Given the description of an element on the screen output the (x, y) to click on. 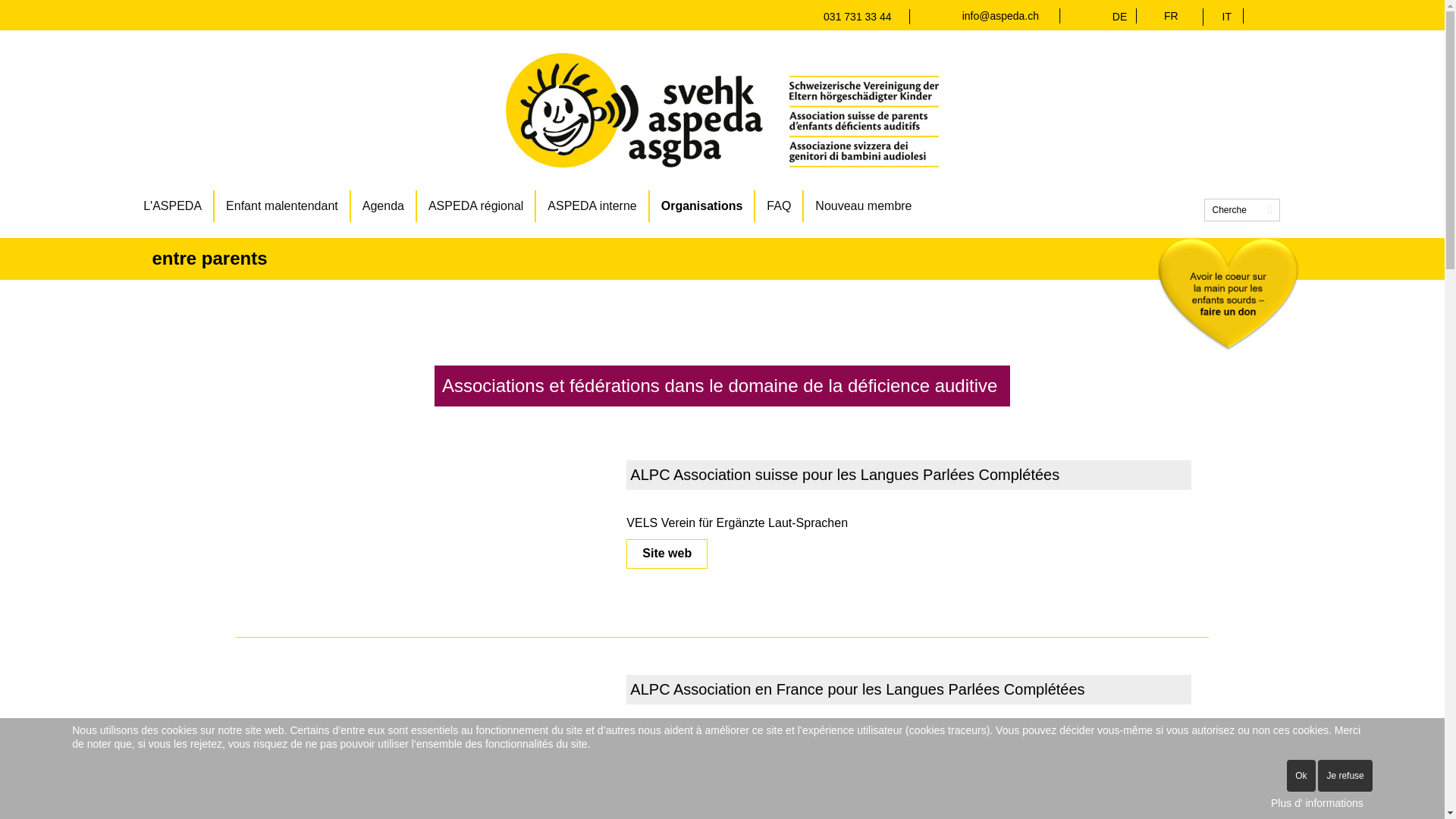
Site web Element type: text (666, 553)
L'ASPEDA Element type: text (172, 206)
Nouveau membre Element type: text (862, 206)
Enfant malentendant Element type: text (282, 206)
FR Element type: text (1171, 15)
Agenda Element type: text (384, 206)
Site web Element type: text (666, 769)
Plus d' informations Element type: text (1316, 803)
Organisations Element type: text (702, 206)
ASPEDA interne Element type: text (592, 206)
DE    Element type: text (1123, 16)
Ok Element type: text (1300, 775)
info@a Element type: text (979, 15)
IT Element type: text (1226, 16)
Je refuse Element type: text (1344, 775)
FAQ Element type: text (779, 206)
